Given the description of an element on the screen output the (x, y) to click on. 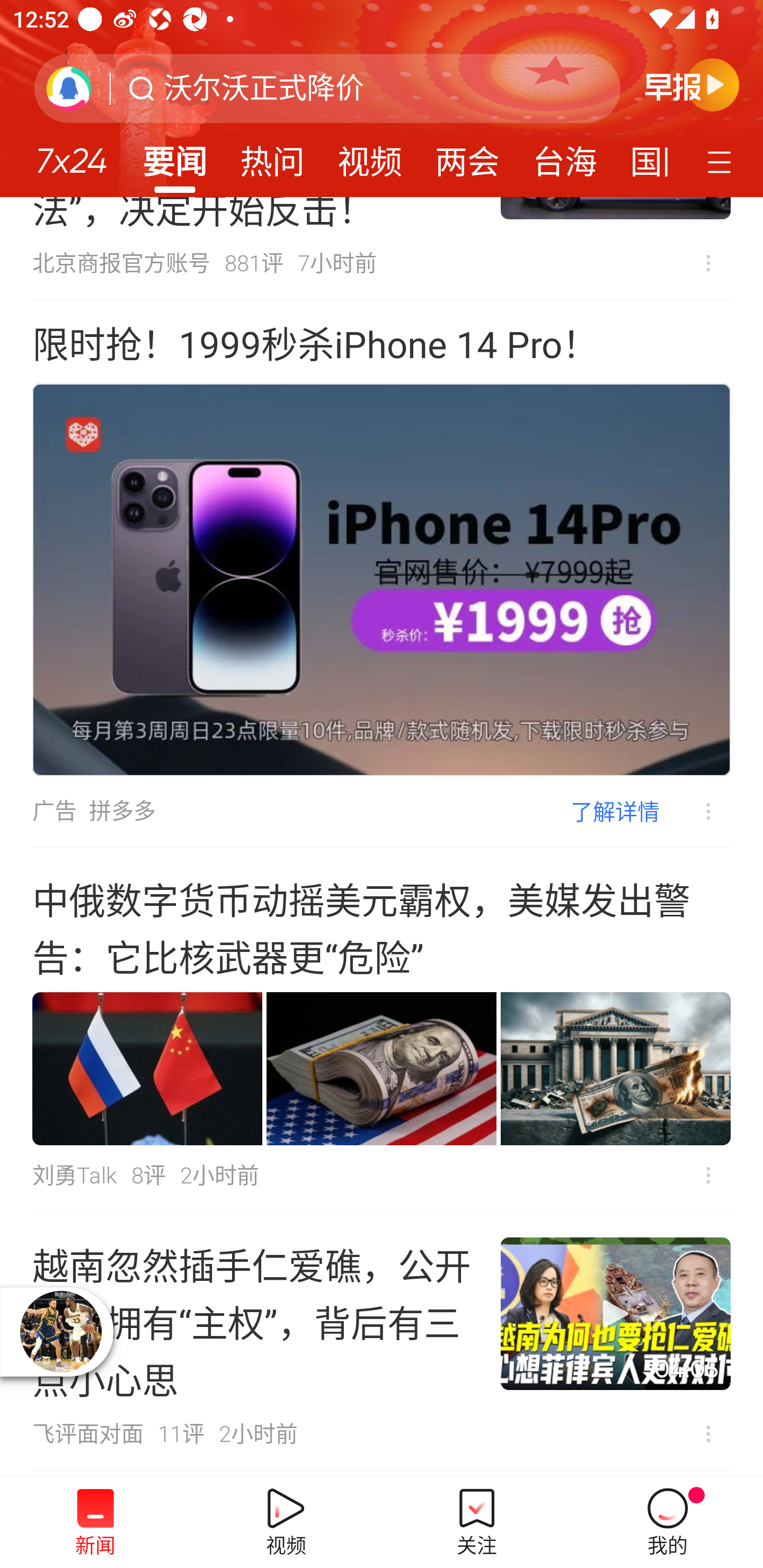
早晚报 (691, 84)
刷新 (68, 88)
沃尔沃正式降价 (263, 88)
7x24 (70, 154)
要闻 (174, 155)
热问 (272, 155)
视频 (369, 155)
两会 (466, 155)
台海 (564, 155)
 定制频道 (721, 160)
 不感兴趣 (707, 263)
限时抢！1999秒杀iPhone 14 Pro！ (315, 345)
 不感兴趣 (694, 811)
了解详情 (614, 811)
广告 (54, 811)
拼多多 (122, 811)
 不感兴趣 (707, 1174)
播放器 (60, 1331)
 不感兴趣 (707, 1433)
